Given the description of an element on the screen output the (x, y) to click on. 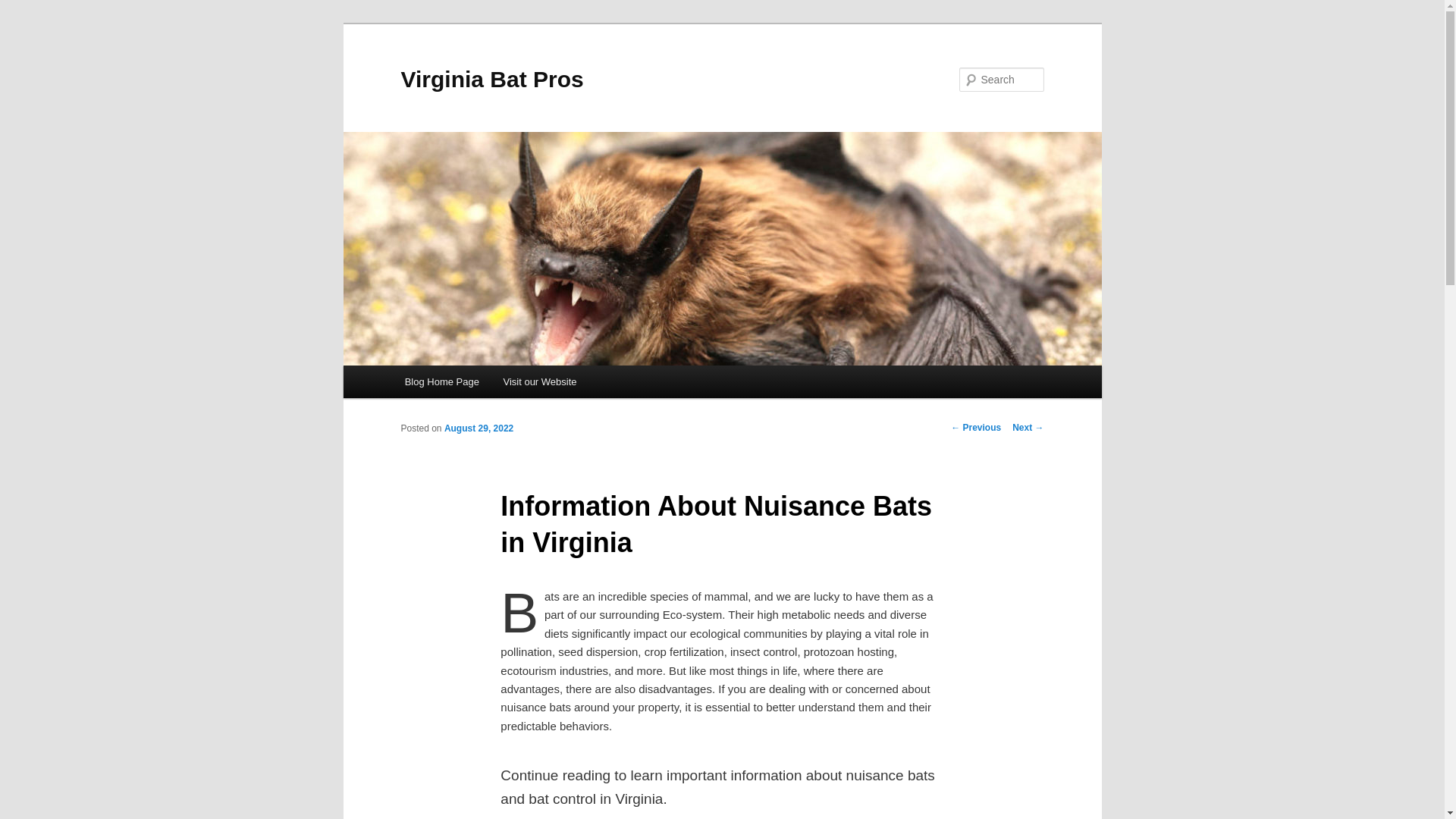
3:22 pm (478, 428)
Virginia Bat Pros (491, 78)
Blog Home Page (442, 381)
Search (24, 8)
Visit our Website (540, 381)
August 29, 2022 (478, 428)
